Given the description of an element on the screen output the (x, y) to click on. 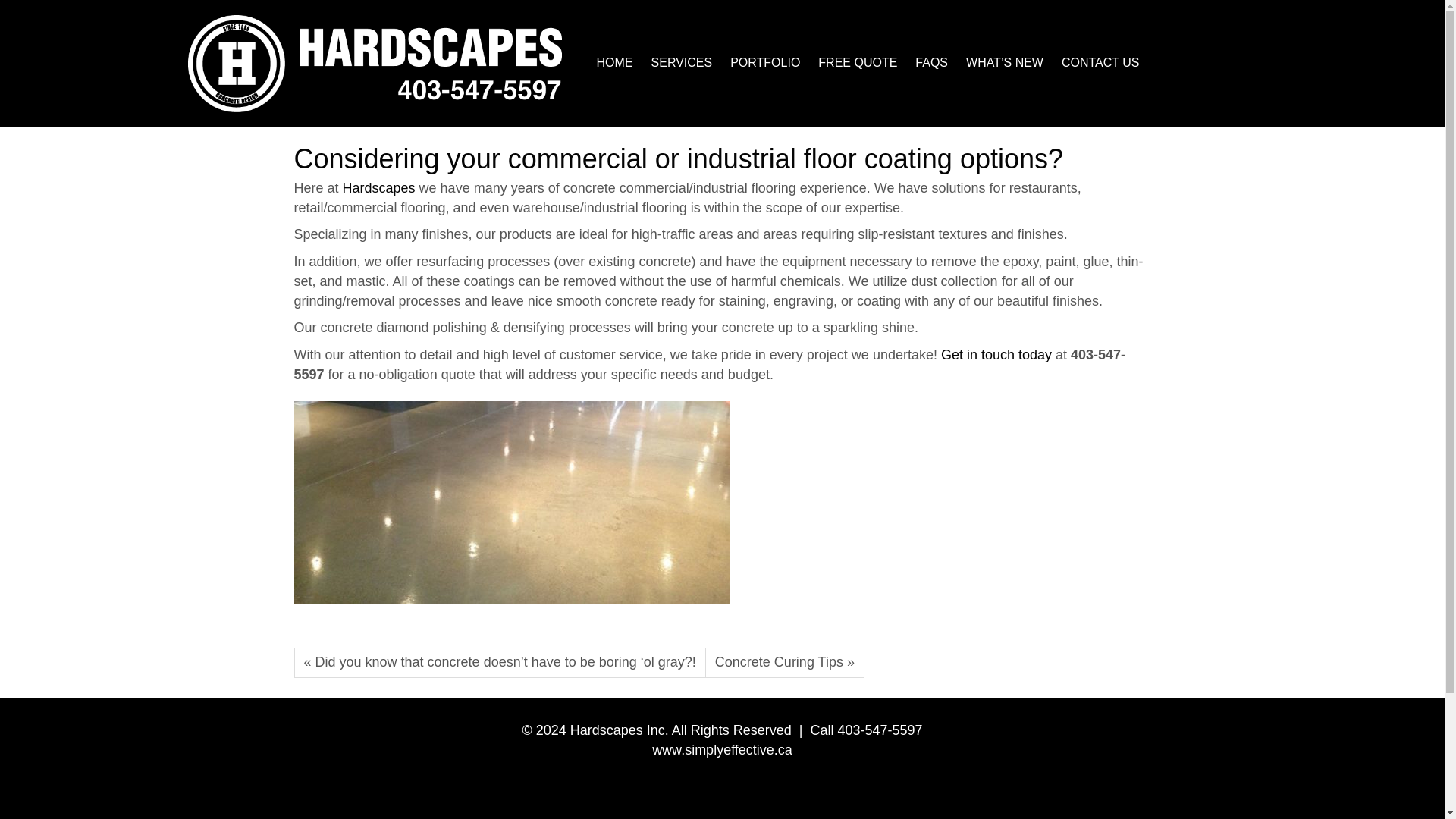
Get in touch today (995, 354)
Concrete Curing Tips (784, 662)
CONTACT US (1100, 62)
PORTFOLIO (764, 62)
FAQS (931, 62)
Hardscapes (380, 187)
www.simplyeffective.ca (722, 749)
FREE QUOTE (857, 62)
HOME (615, 62)
SERVICES (681, 62)
